Given the description of an element on the screen output the (x, y) to click on. 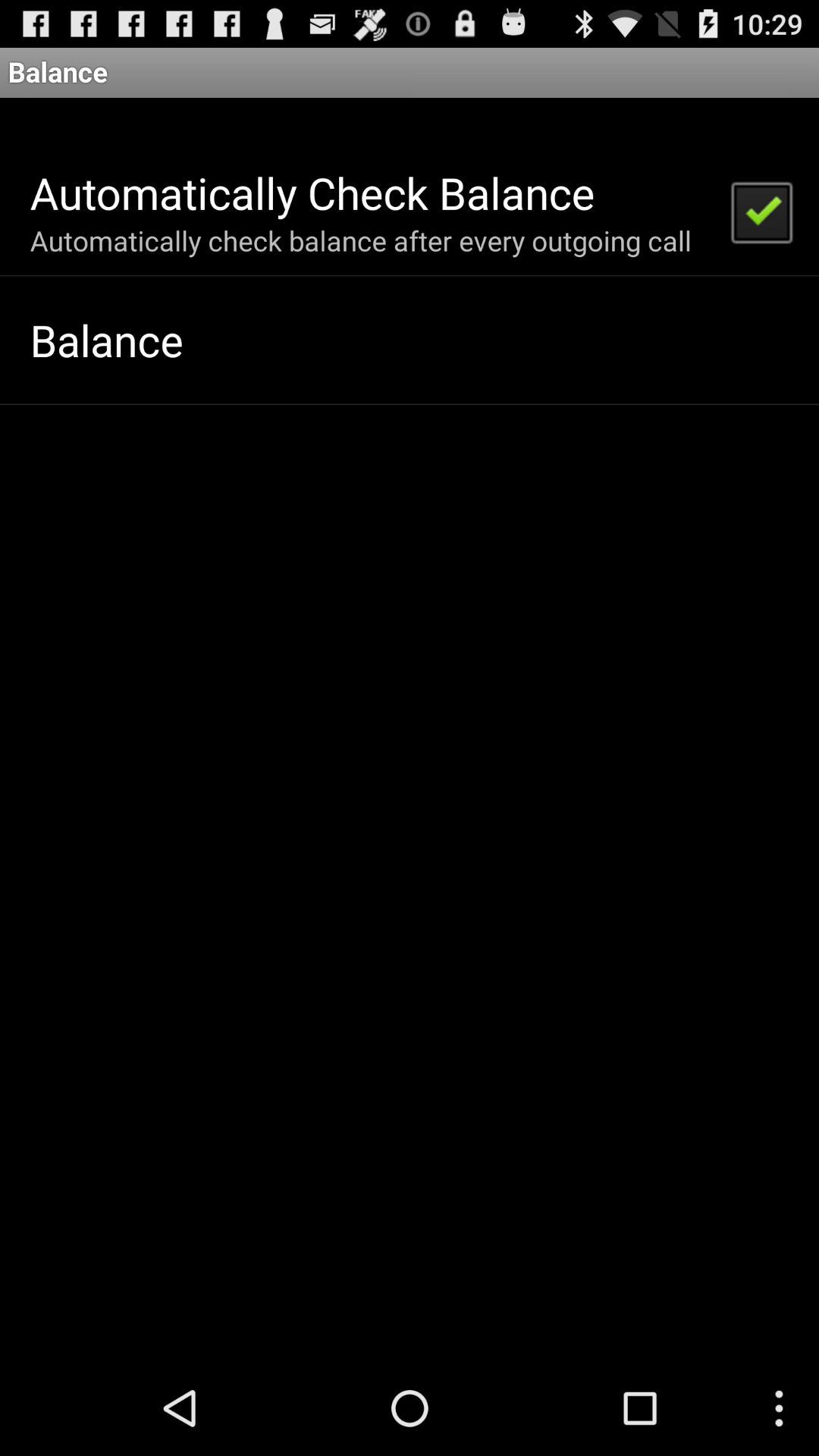
choose item at the top right corner (761, 211)
